Given the description of an element on the screen output the (x, y) to click on. 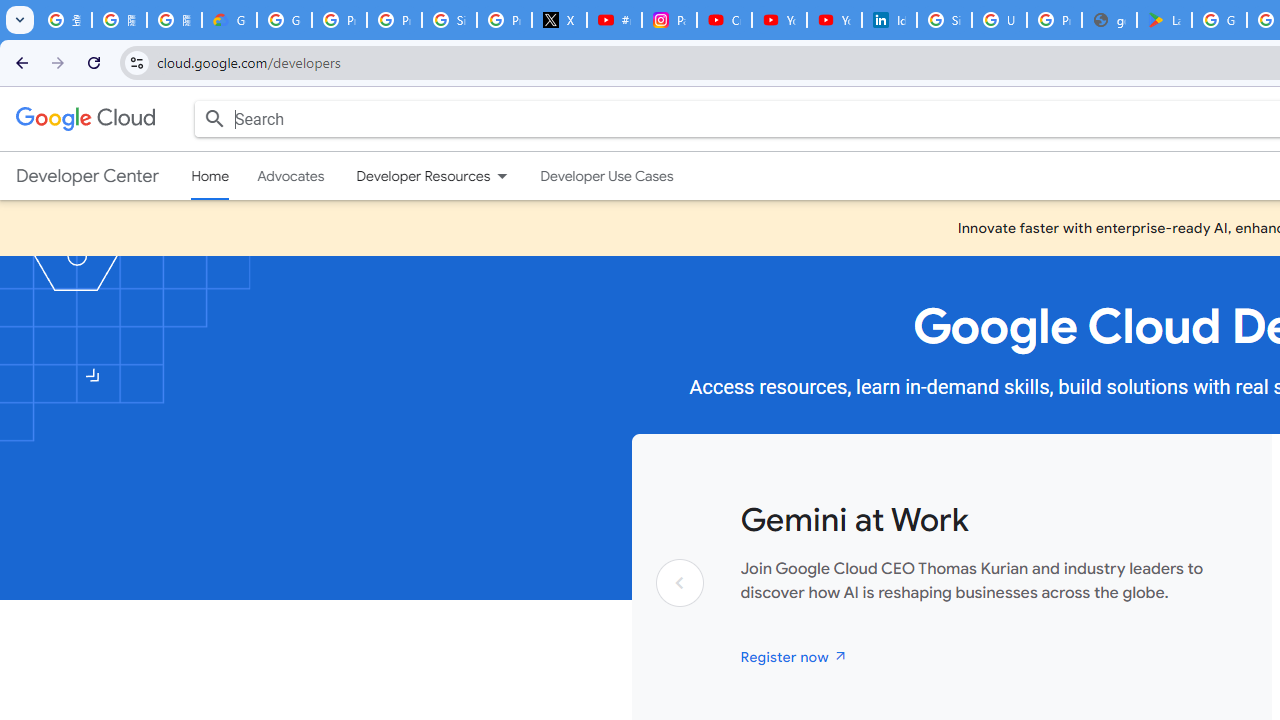
YouTube Culture & Trends - YouTube Top 10, 2021 (833, 20)
Last Shelter: Survival - Apps on Google Play (1163, 20)
Developer Use Cases (607, 175)
X (559, 20)
Developer Center (87, 175)
Privacy Help Center - Policies Help (394, 20)
Dropdown menu for Developer Resources (502, 175)
Home, selected (210, 175)
